Given the description of an element on the screen output the (x, y) to click on. 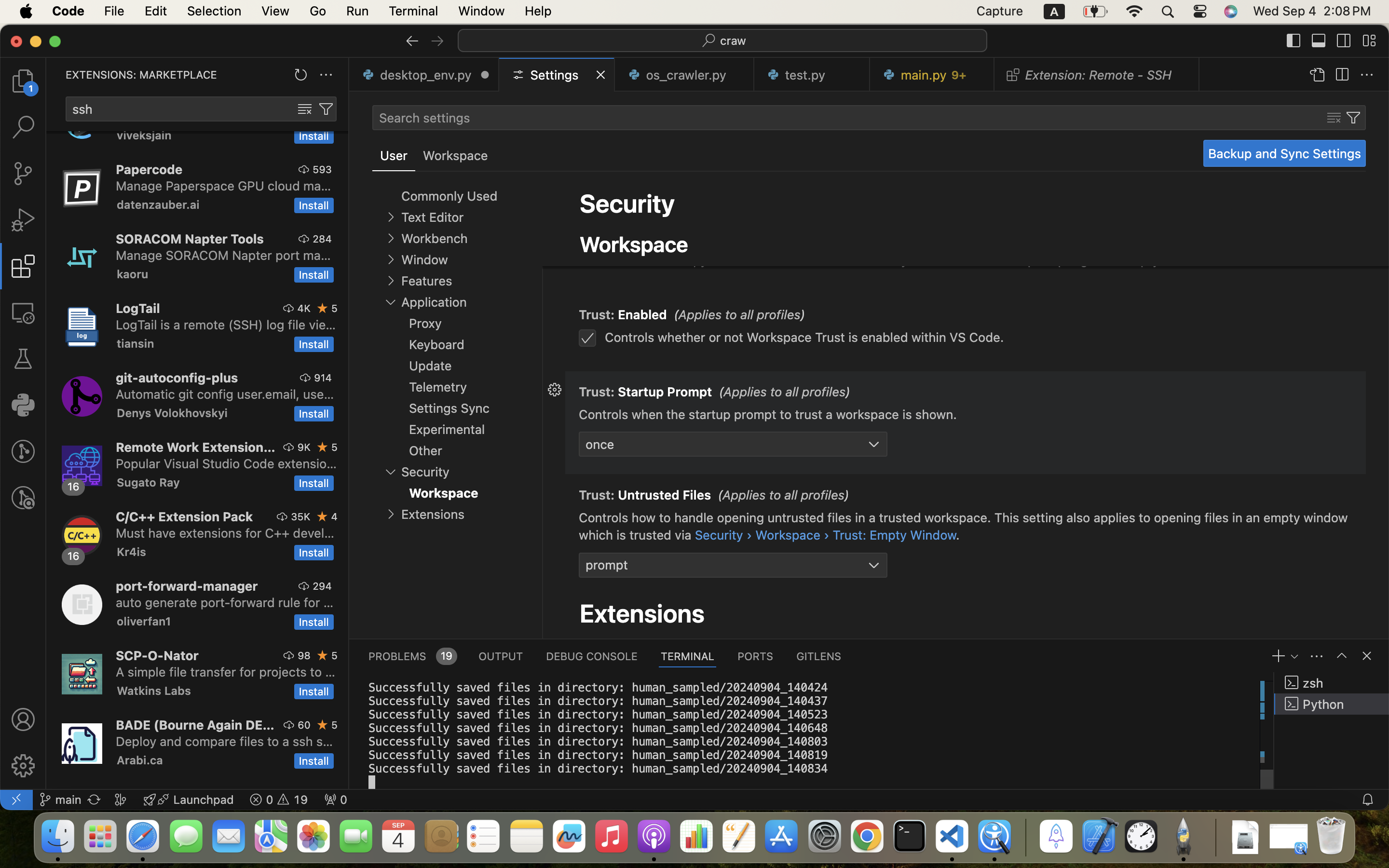
60 Element type: AXStaticText (304, 724)
 Element type: AXStaticText (304, 238)
Application Element type: AXStaticText (433, 302)
Automatic git config user.email, user.name, SSH key setting for vscode Element type: AXStaticText (224, 393)
Watkins Labs Element type: AXStaticText (153, 690)
